Given the description of an element on the screen output the (x, y) to click on. 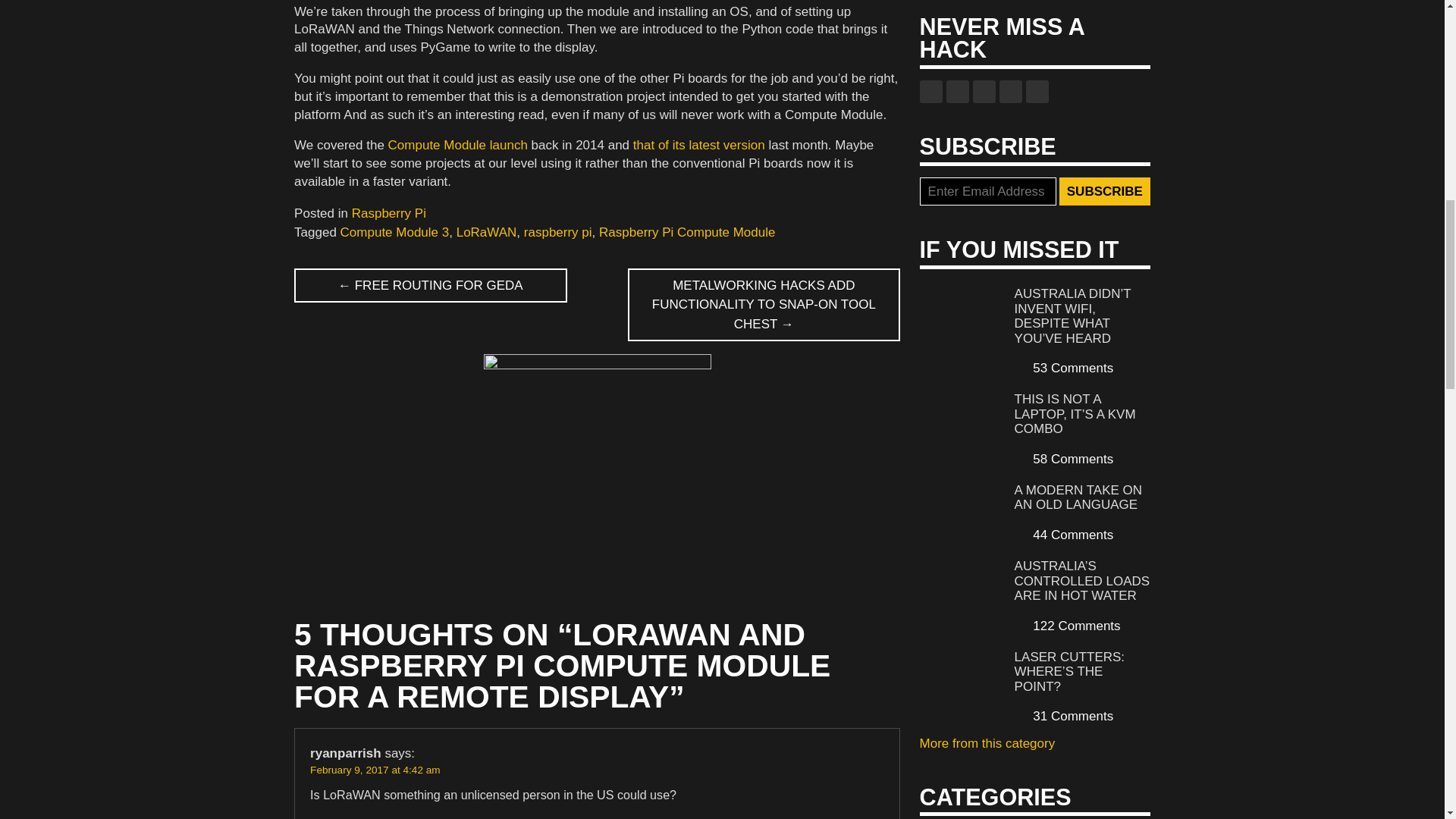
Raspberry Pi (389, 213)
raspberry pi (558, 232)
Subscribe (1104, 191)
Compute Module 3 (394, 232)
Compute Module launch (457, 145)
Raspberry Pi Compute Module (686, 232)
February 9, 2017 at 4:42 am (375, 769)
that of its latest version (699, 145)
LoRaWAN (486, 232)
